Given the description of an element on the screen output the (x, y) to click on. 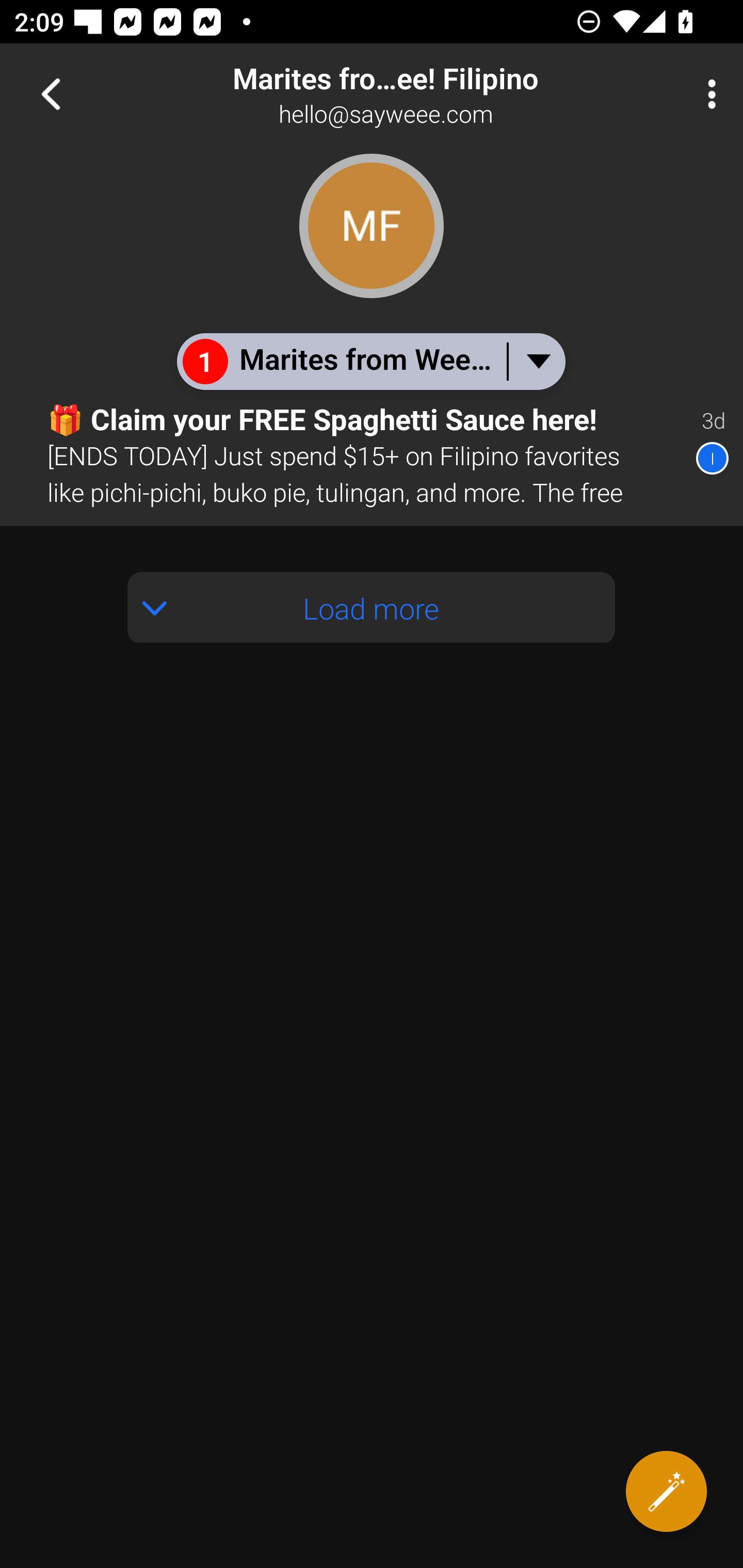
Navigate up (50, 93)
Marites from Weee! Filipino hello@sayweee.com (436, 93)
More Options (706, 93)
1 Marites from Weee! Filipino & You (370, 361)
Load more (371, 607)
